Given the description of an element on the screen output the (x, y) to click on. 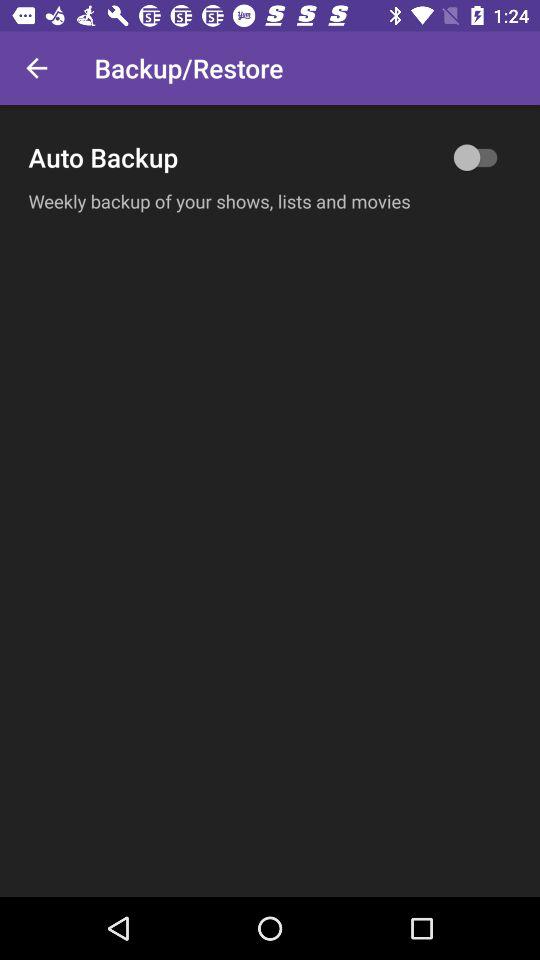
open the icon above the auto backup (36, 68)
